Given the description of an element on the screen output the (x, y) to click on. 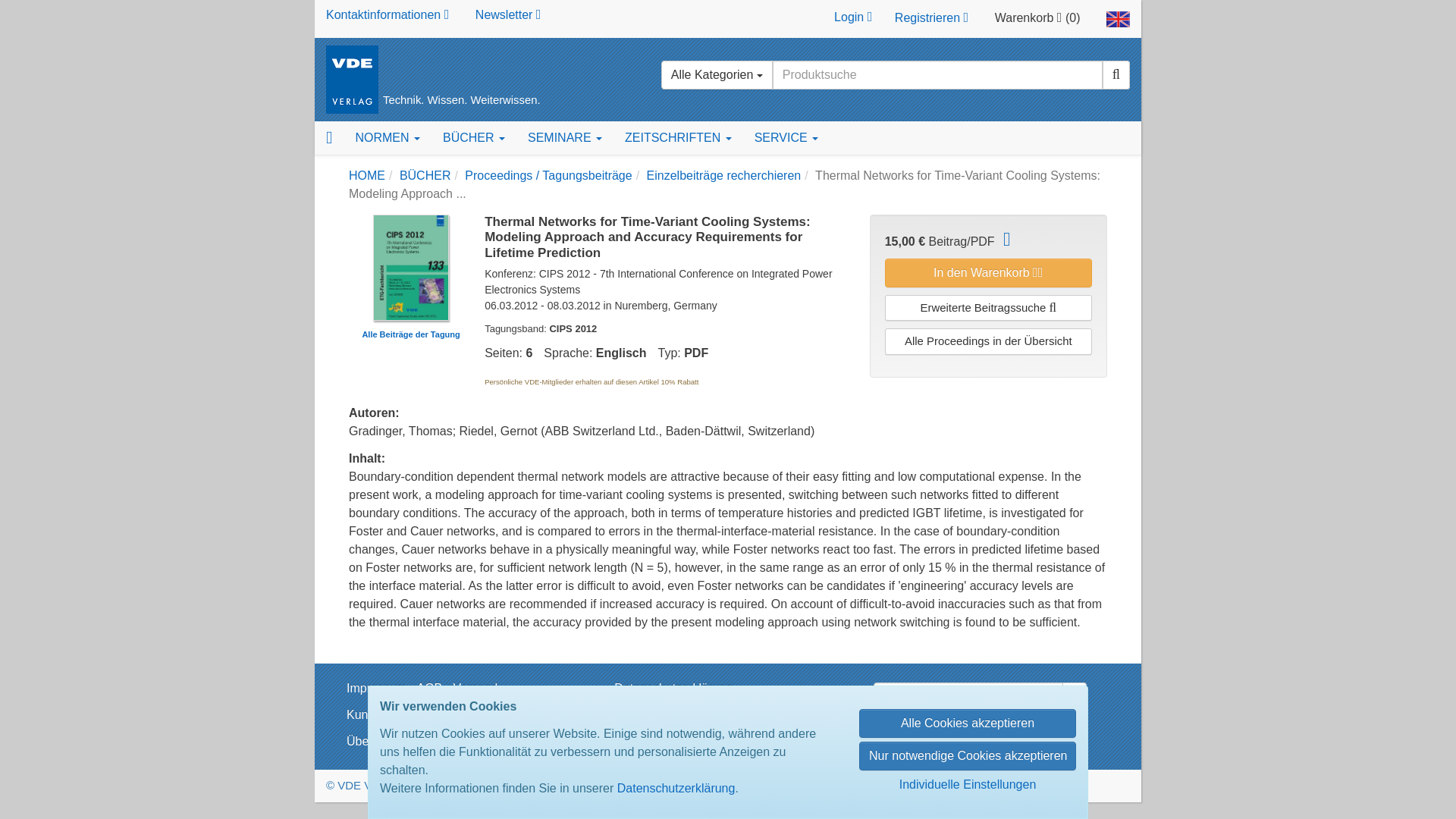
Newsletter (508, 14)
Login (853, 18)
Alle Kategorien (717, 74)
Kontaktinformationen (387, 14)
NORMEN (386, 137)
Registrieren (931, 17)
